Given the description of an element on the screen output the (x, y) to click on. 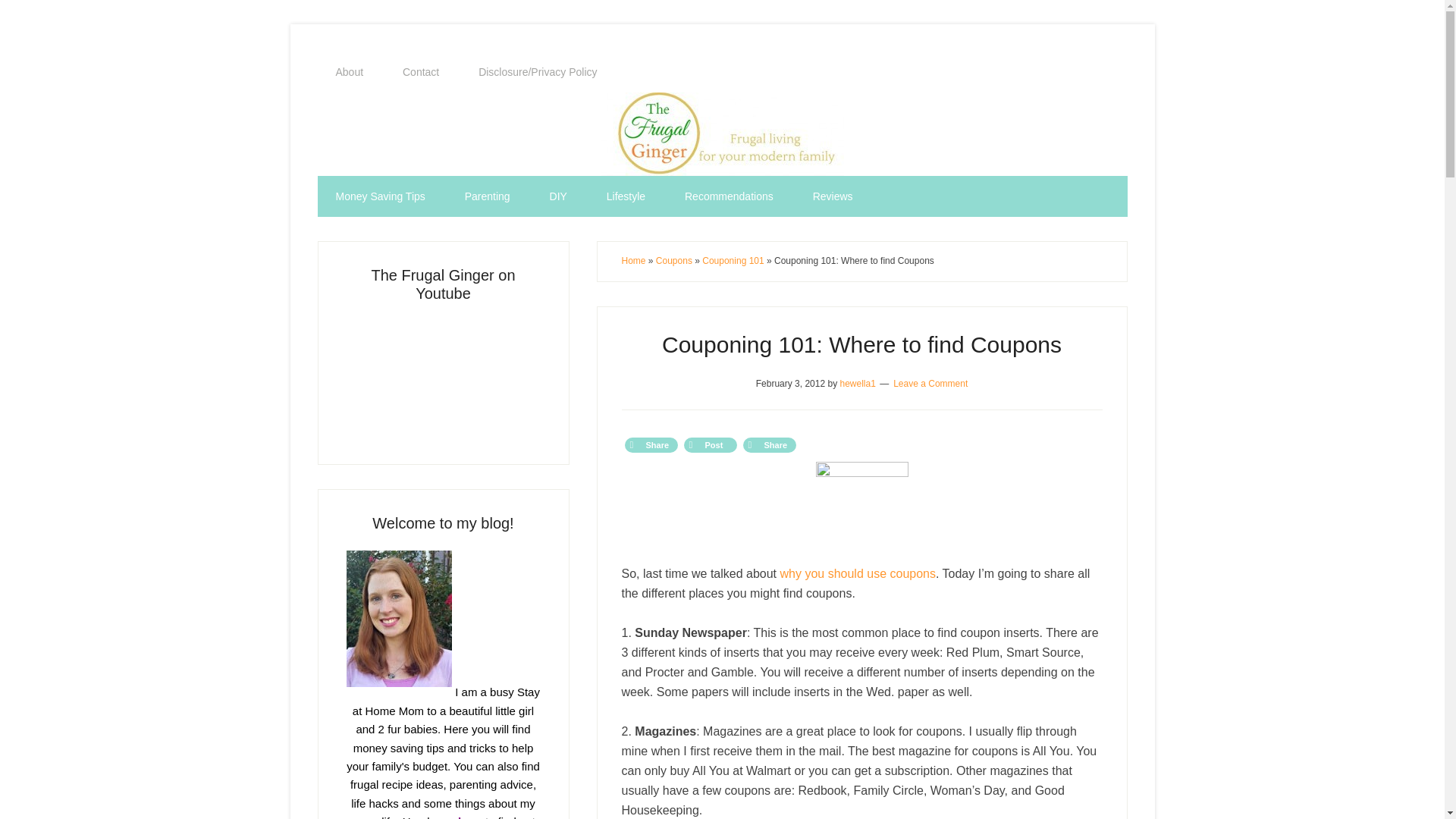
About (349, 71)
Money Saving Tips (379, 196)
Parenting (487, 196)
Contact (420, 71)
Leave a Comment (930, 382)
Couponing 101 (731, 260)
Frugal Living (443, 377)
Coupons (674, 260)
Lifestyle (625, 196)
DIY (558, 196)
Recommendations (729, 196)
More Options (769, 444)
Facebook (651, 444)
hewella1 (857, 382)
The Frugal Ginger (721, 134)
